Given the description of an element on the screen output the (x, y) to click on. 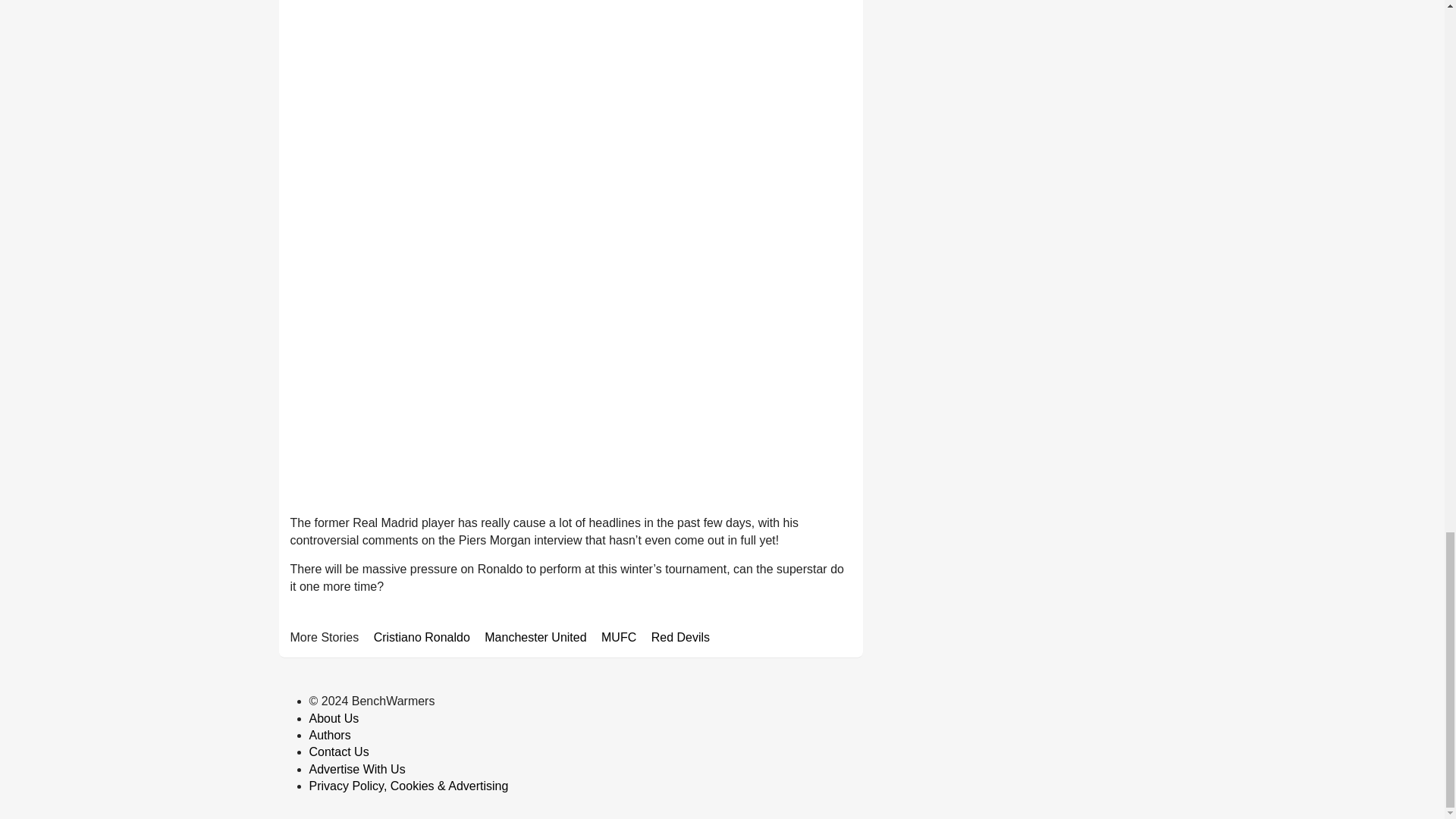
Red Devils (680, 636)
Manchester United (535, 636)
Cristiano Ronaldo (422, 636)
MUFC (618, 636)
